Given the description of an element on the screen output the (x, y) to click on. 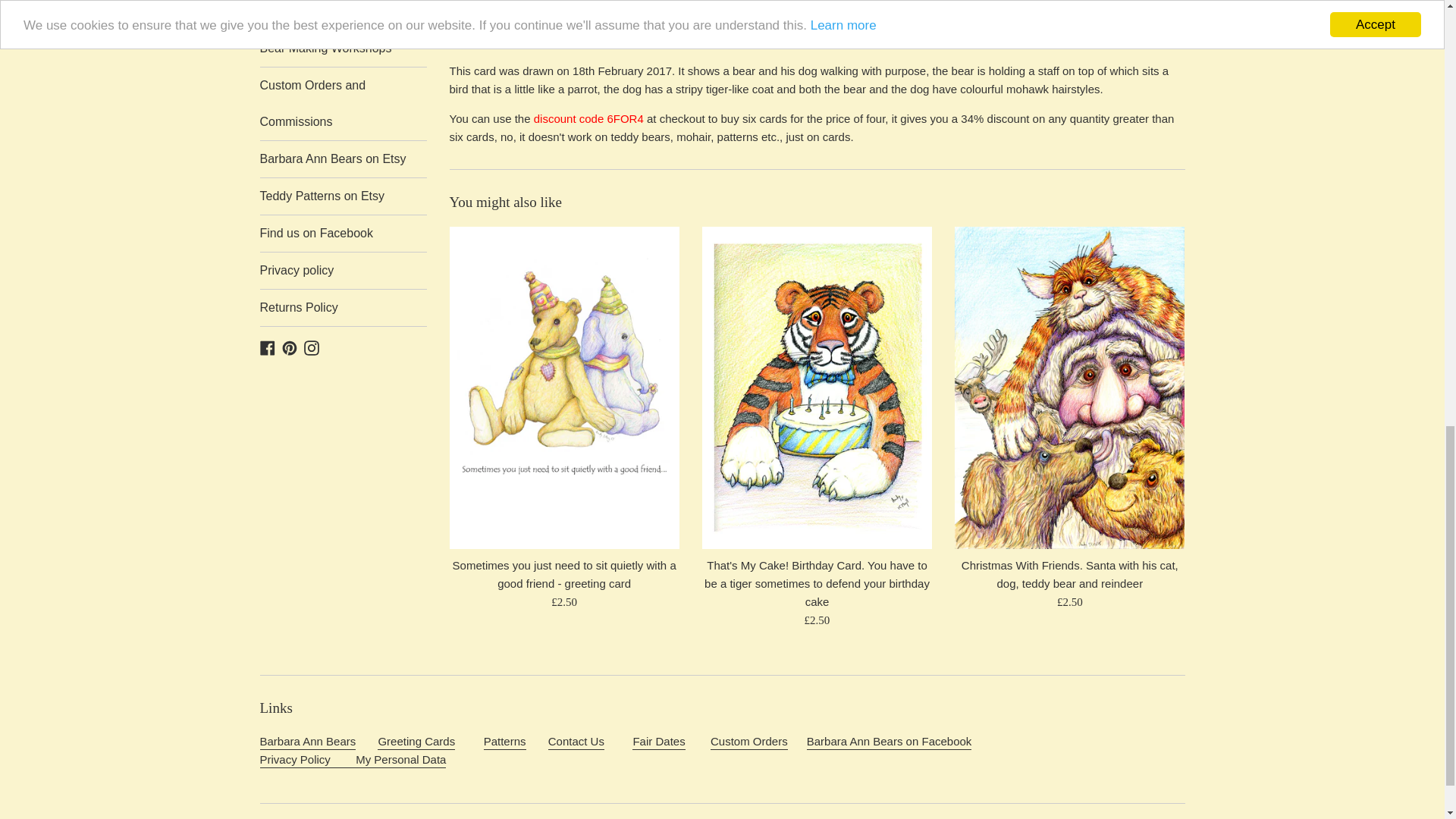
Andy Near The Sea Greeting Cards (415, 742)
Fair Dates (657, 742)
Find us on Facebook (342, 233)
Teddy Bear Patterns (504, 742)
Barbara Ann Bears on Instagram (311, 346)
Barbara Ann Bears on Etsy (342, 158)
Contact Us (576, 742)
Barbara Ann Bears on Pinterest (289, 346)
Bear Making Workshops (342, 48)
My Personal Data (352, 760)
Barbara Ann Bears on Facebook (267, 346)
Privacy policy (342, 270)
Custom Orders and Commissions (748, 742)
Returns Policy (342, 307)
